Given the description of an element on the screen output the (x, y) to click on. 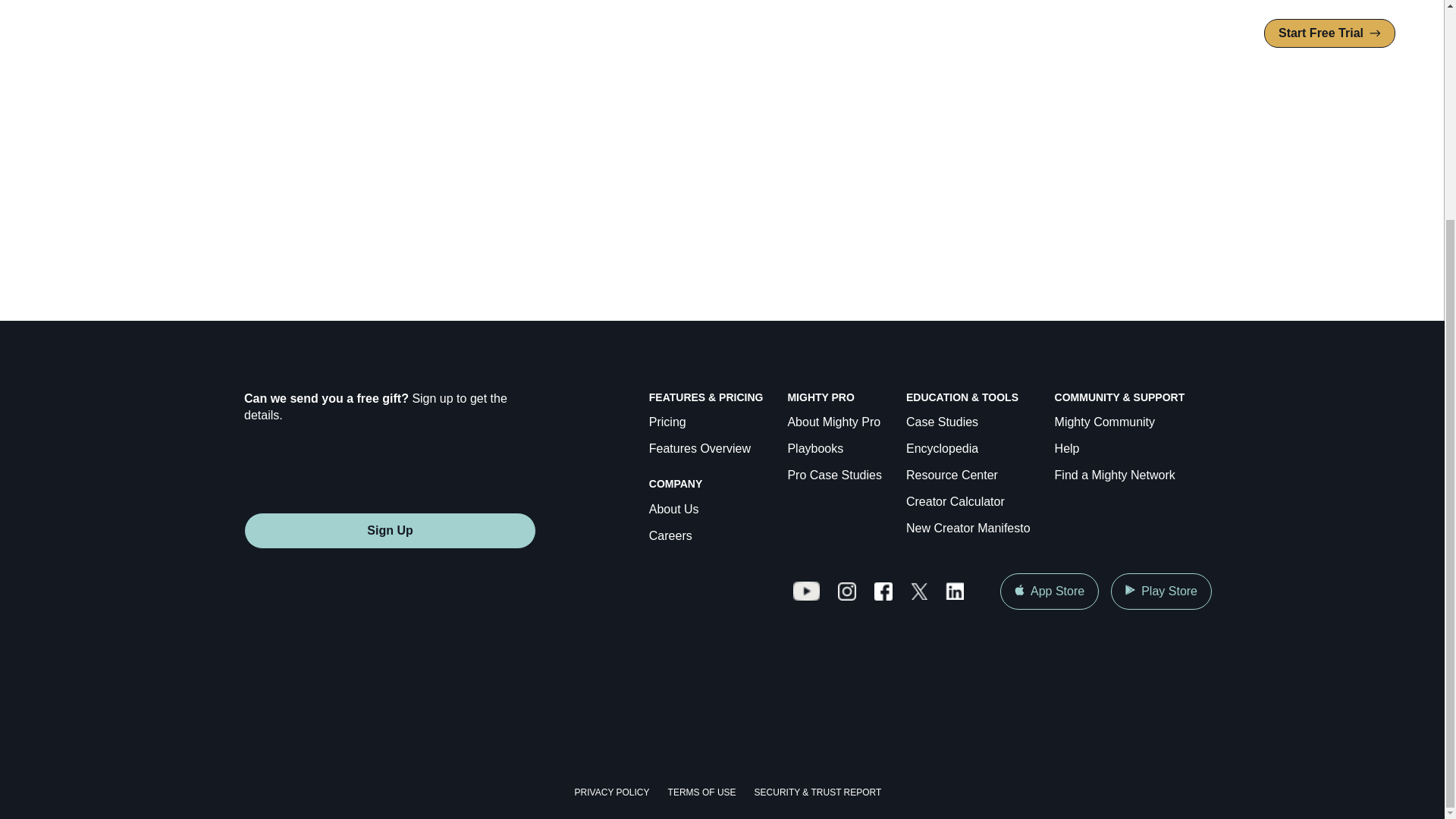
Pricing (667, 422)
Creator Calculator (954, 502)
Help (1067, 448)
Encyclopedia (941, 448)
Sign Up (389, 530)
Careers (671, 536)
New Creator Manifesto (967, 528)
Case Studies (941, 422)
Find a Mighty Network (1114, 475)
Pro Case Studies (834, 475)
Resource Center (951, 475)
Playbooks (815, 448)
Features Overview (700, 448)
Mighty Community (1104, 422)
About Us (673, 509)
